Given the description of an element on the screen output the (x, y) to click on. 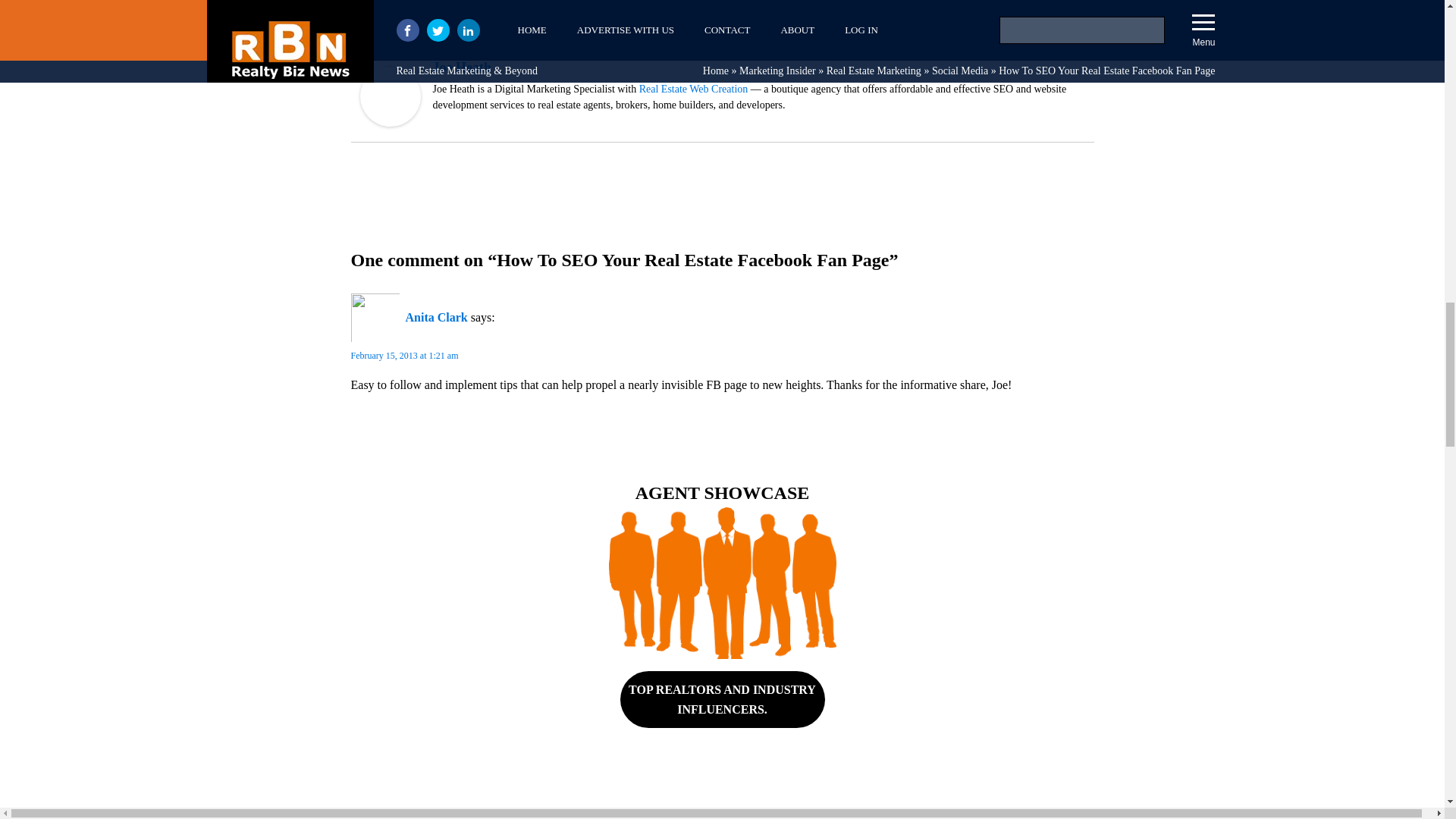
Joe Heath (389, 122)
